Given the description of an element on the screen output the (x, y) to click on. 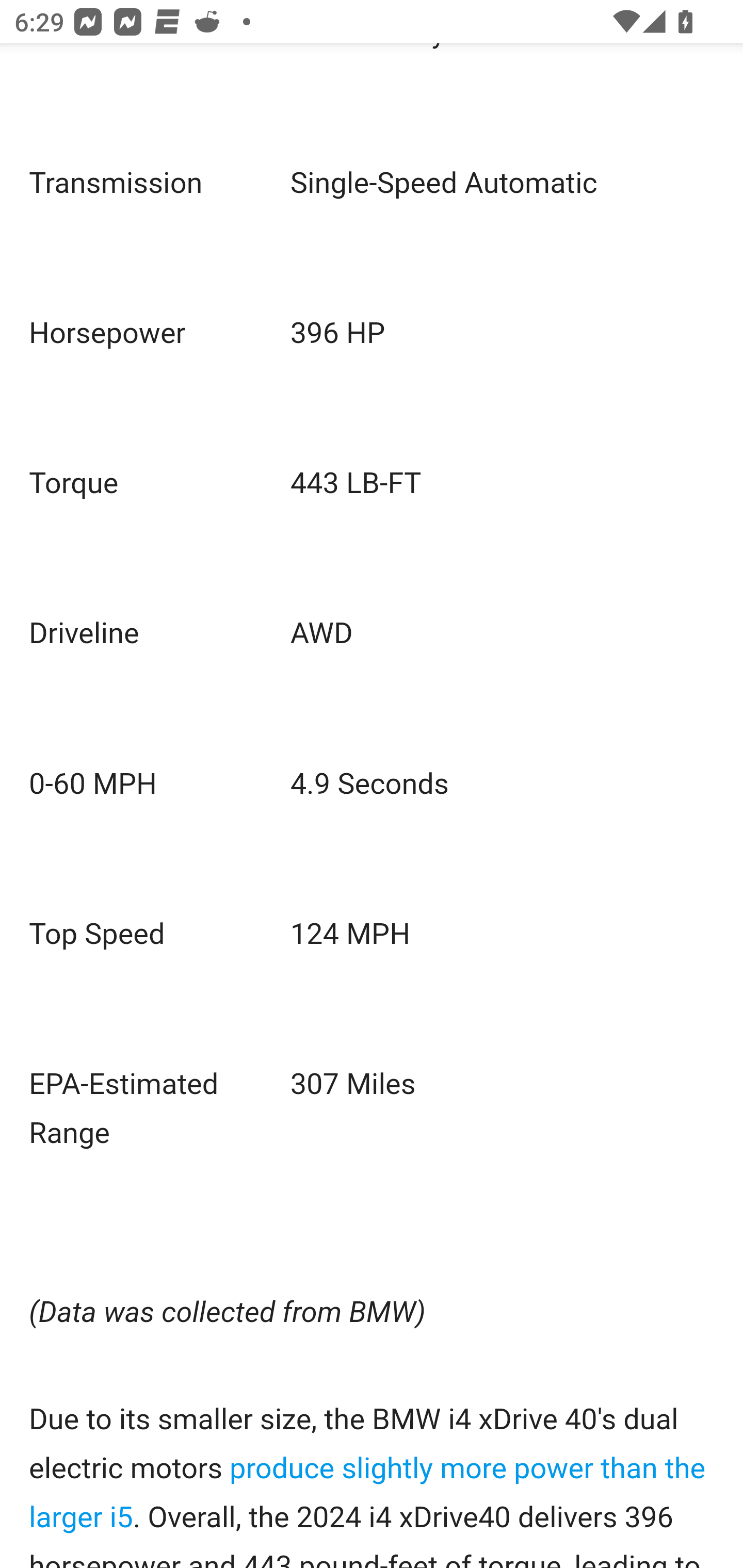
produce slightly more power than the larger i5 (366, 1493)
